Given the description of an element on the screen output the (x, y) to click on. 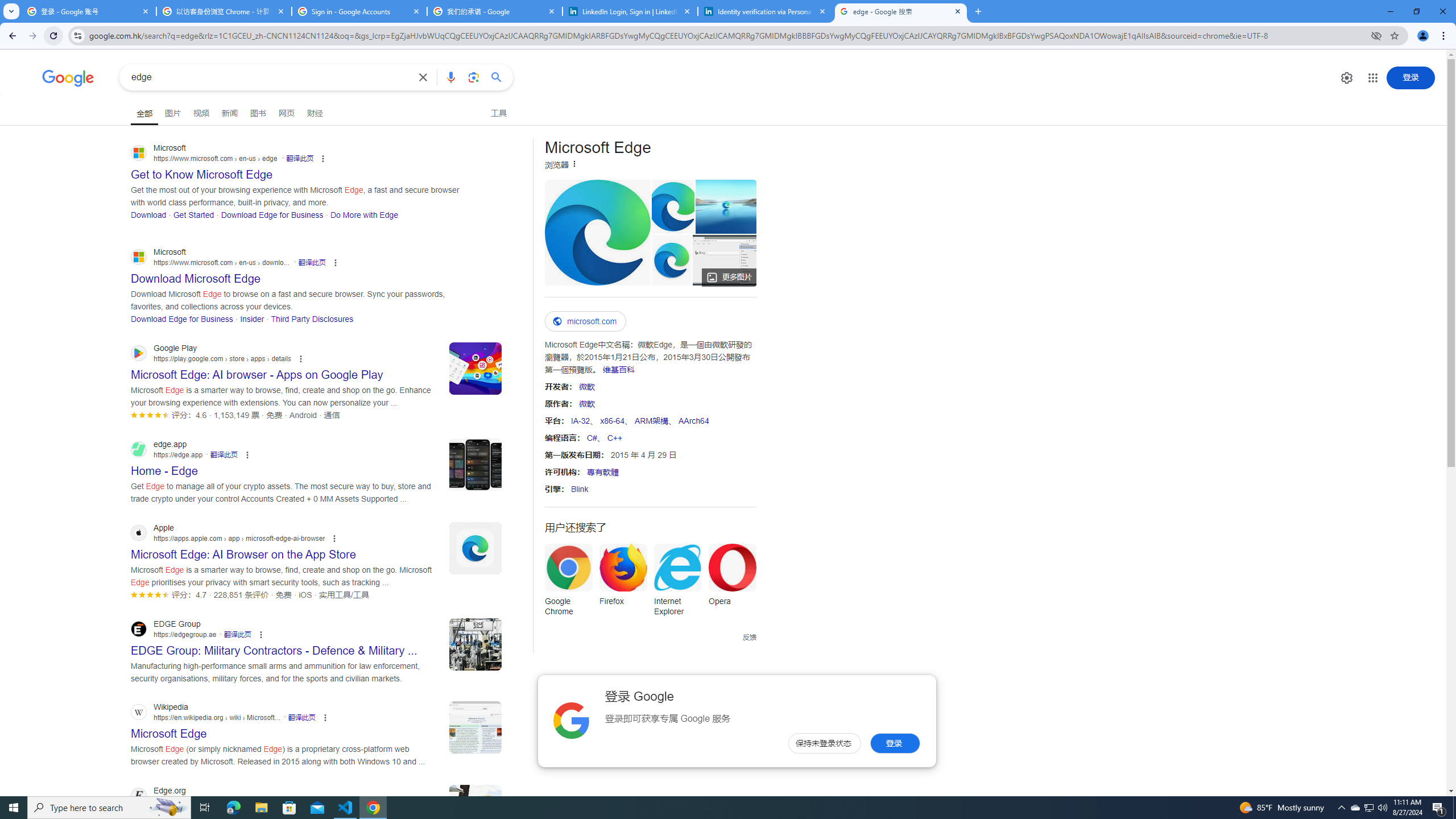
View site information (77, 35)
Google (68, 78)
LinkedIn Login, Sign in | LinkedIn (630, 11)
 Home - Edge edge.app https://edge.app (164, 467)
Browse InPrivate in Microsoft Edge - Microsoft Support (723, 260)
